Given the description of an element on the screen output the (x, y) to click on. 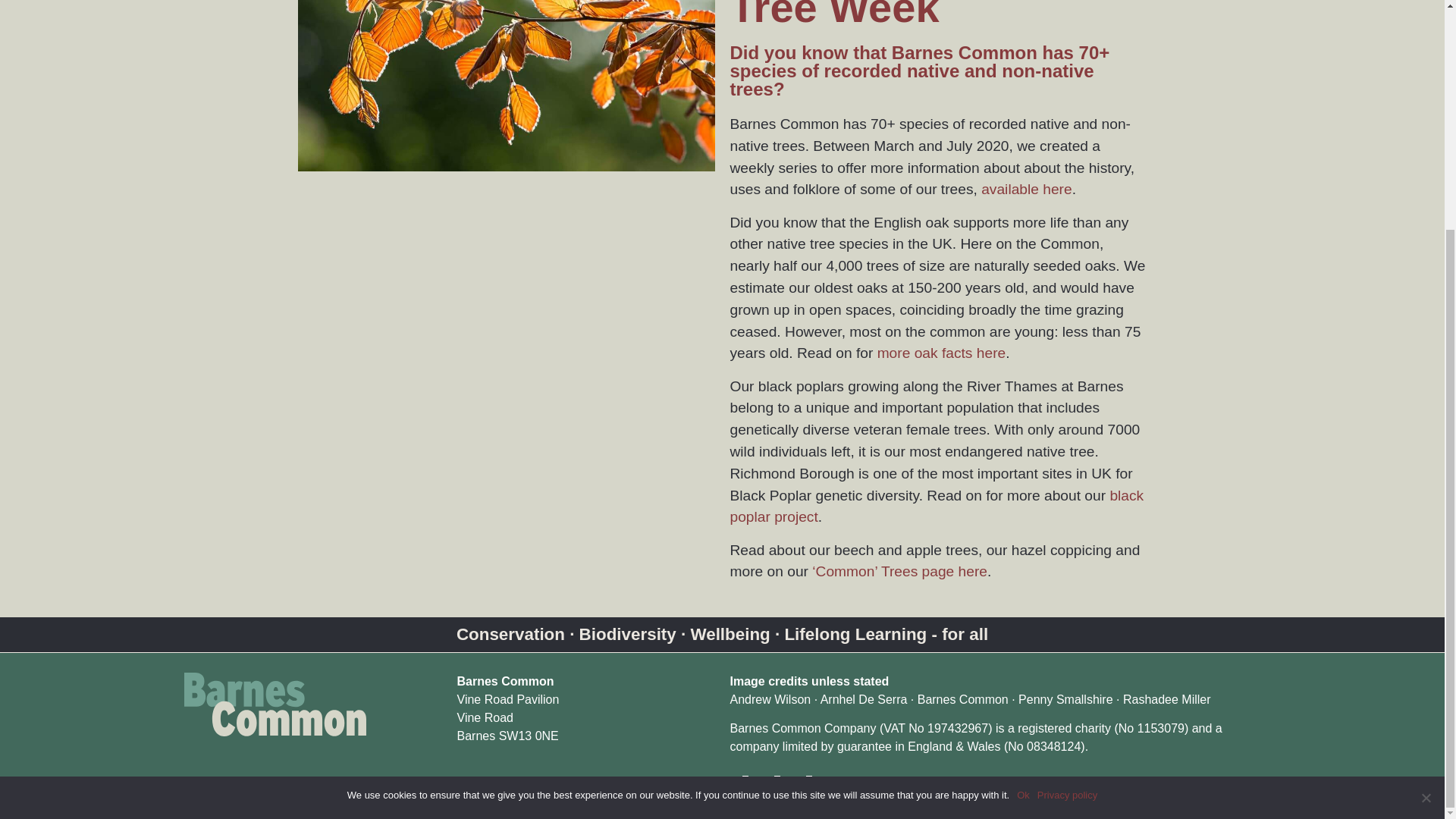
No (1425, 488)
